Given the description of an element on the screen output the (x, y) to click on. 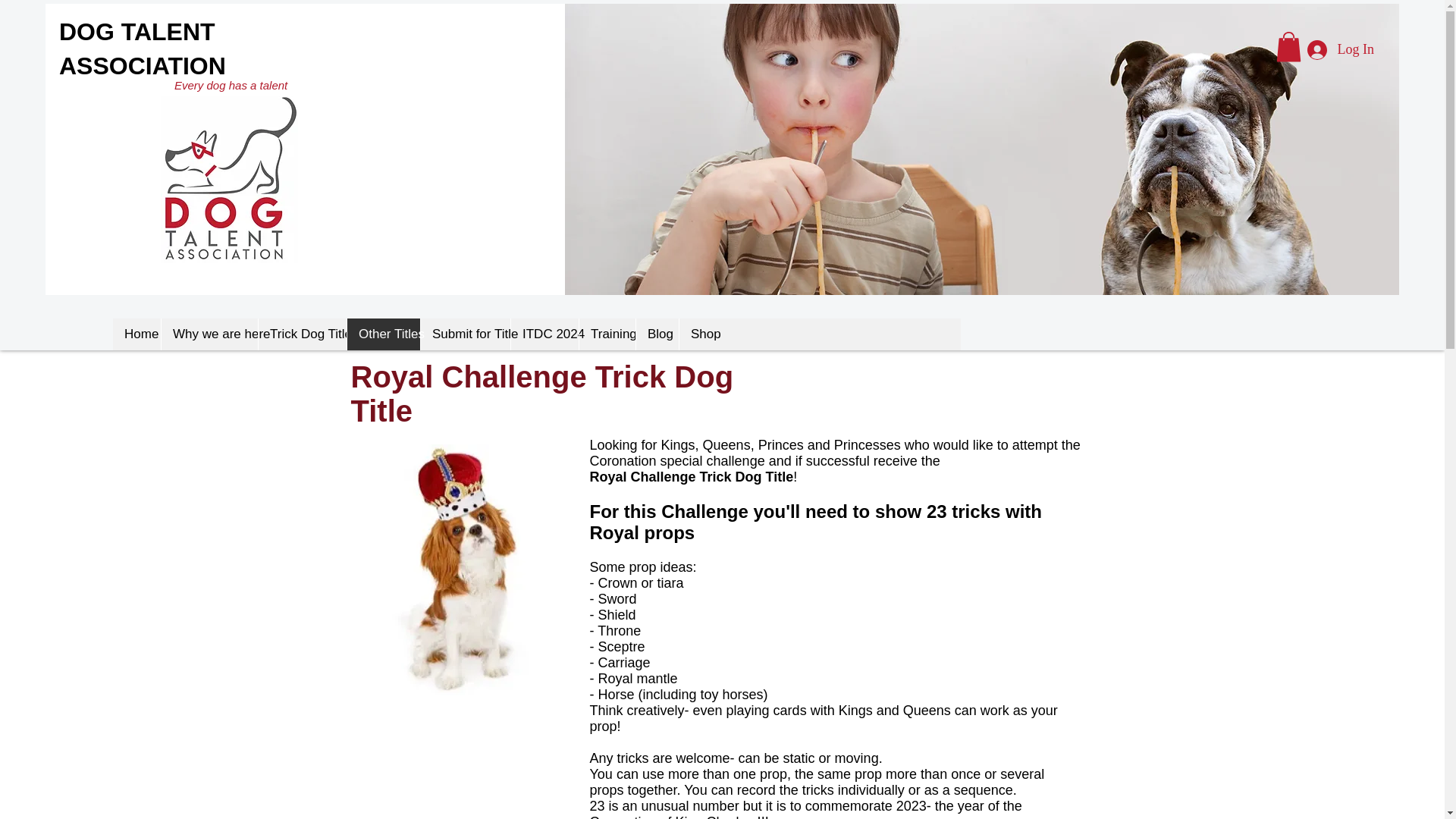
Home (136, 334)
Trick Dog Titles (301, 334)
Why we are here (208, 334)
Submit for Title (465, 334)
Training (606, 334)
Shop (700, 334)
DOG TALENT ASSOCIATION (142, 48)
Blog (656, 334)
ITDC 2024 (544, 334)
Log In (1341, 49)
